Given the description of an element on the screen output the (x, y) to click on. 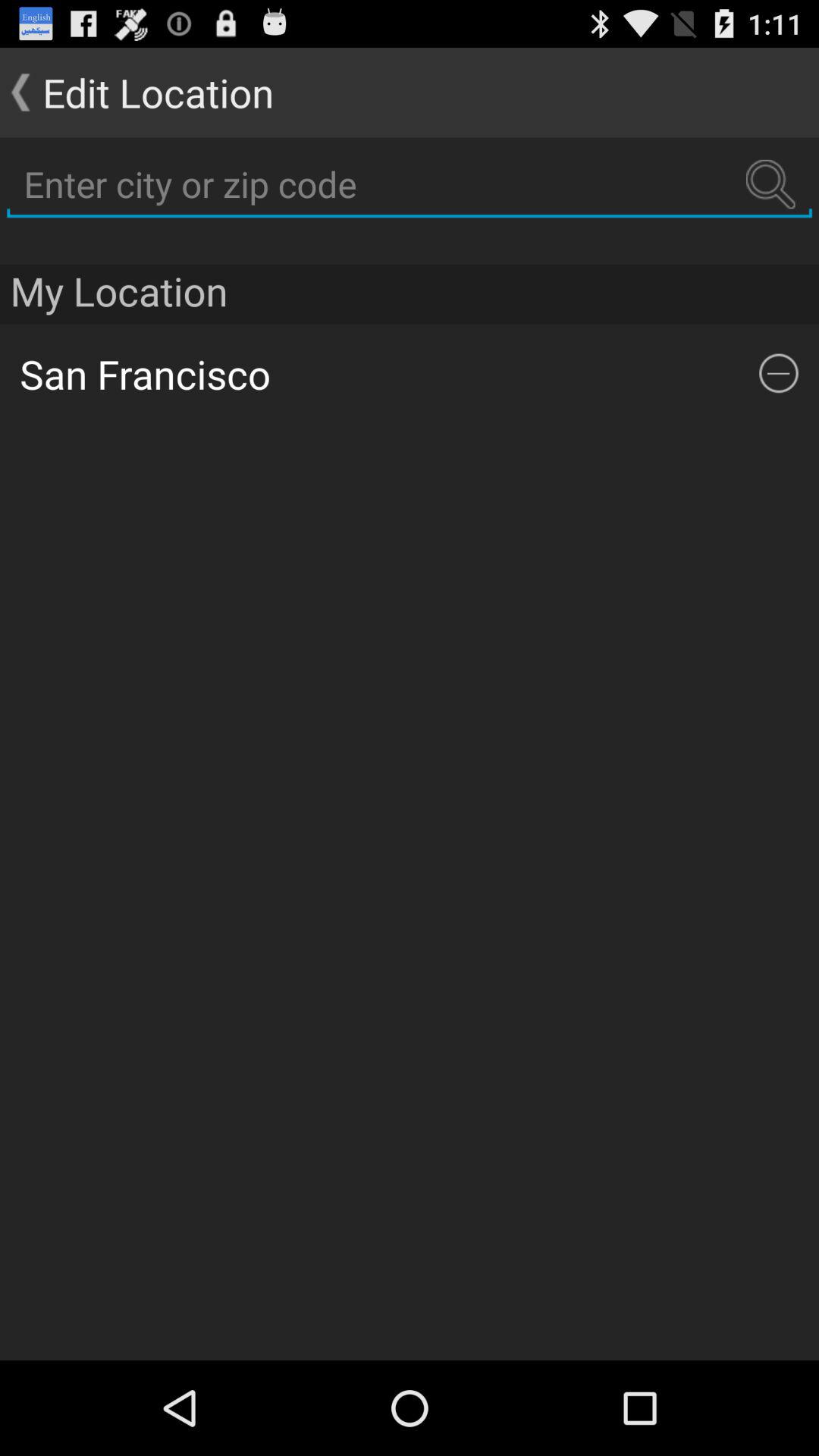
choose edit location icon (137, 91)
